Given the description of an element on the screen output the (x, y) to click on. 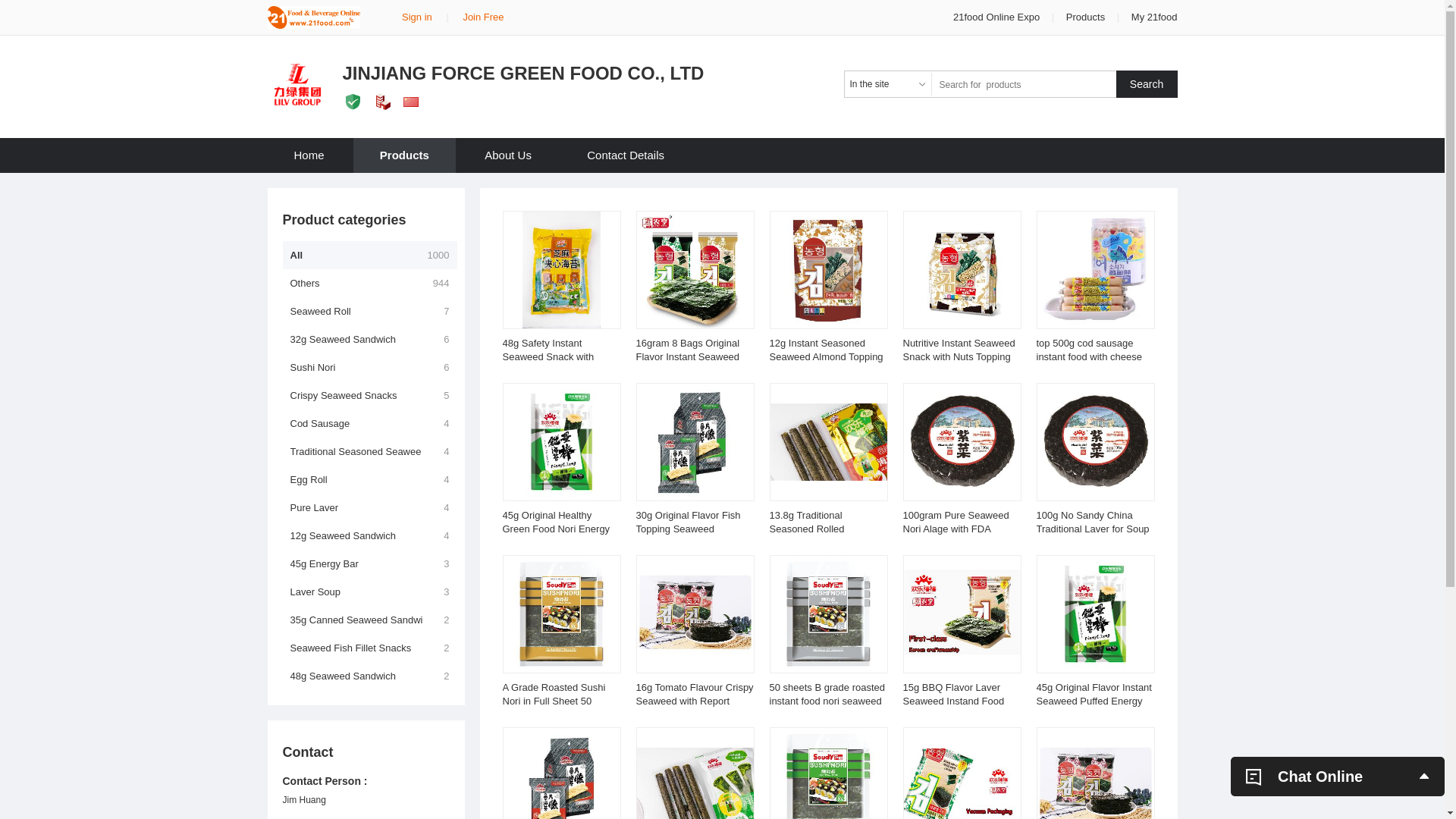
30g Original Flavor Fish Topping Seaweed Sandwich Element type: text (687, 528)
21food Online Expo Element type: text (997, 16)
48g Safety Instant Seaweed Snack with seame Element type: text (547, 356)
Home Element type: text (308, 155)
Contact Details Element type: text (625, 155)
Search Element type: text (1146, 83)
About Us Element type: text (508, 155)
Sign in Element type: text (416, 16)
Products Element type: text (404, 155)
Products Element type: text (1085, 16)
100gram Pure Seaweed Nori Alage with FDA Element type: text (955, 521)
top 500g cod sausage instant food with cheese flavor Element type: text (1088, 356)
50 sheets B grade roasted instant food nori seaweed Element type: text (826, 693)
15g BBQ Flavor Laver Seaweed Instand Food Snacks Element type: text (953, 700)
Join Free Element type: text (482, 16)
16g Tomato Flavour Crispy Seaweed with Report Element type: text (694, 693)
My 21food Element type: text (1154, 16)
